Given the description of an element on the screen output the (x, y) to click on. 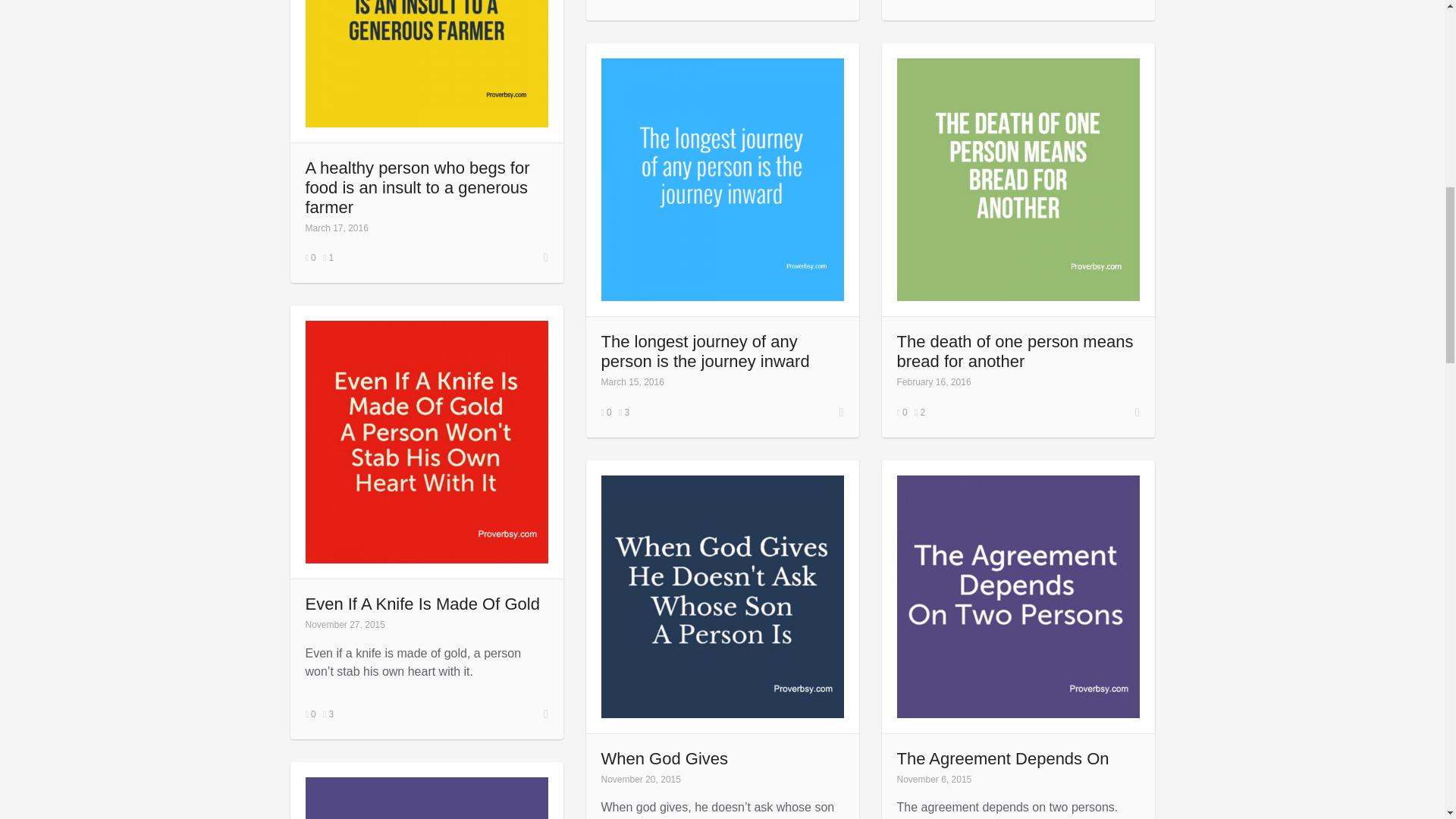
Love this. (328, 257)
